Given the description of an element on the screen output the (x, y) to click on. 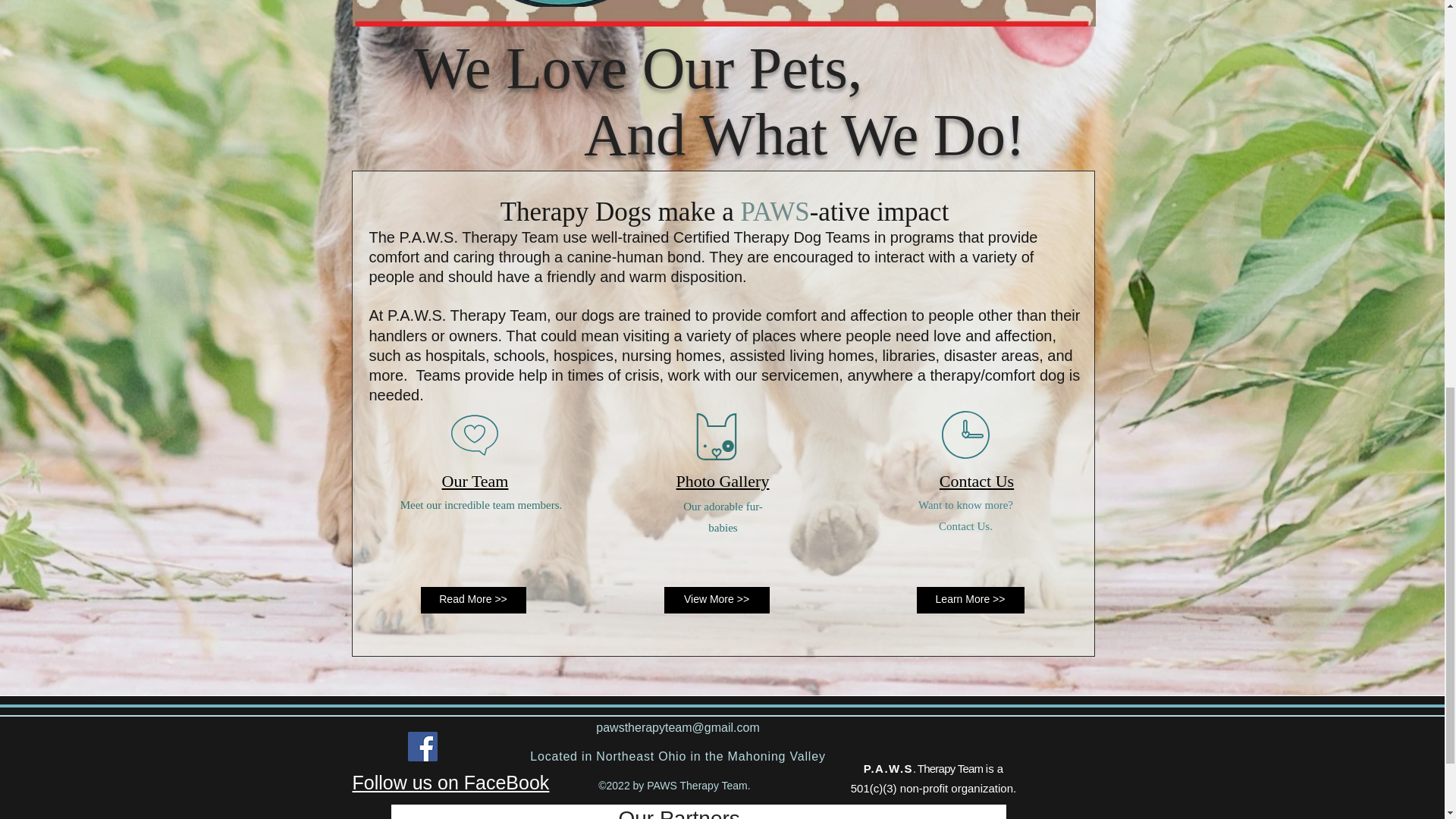
Photo Gallery (723, 476)
Our Team (475, 476)
Follow us on FaceBook (450, 782)
Contact Us (976, 476)
